Given the description of an element on the screen output the (x, y) to click on. 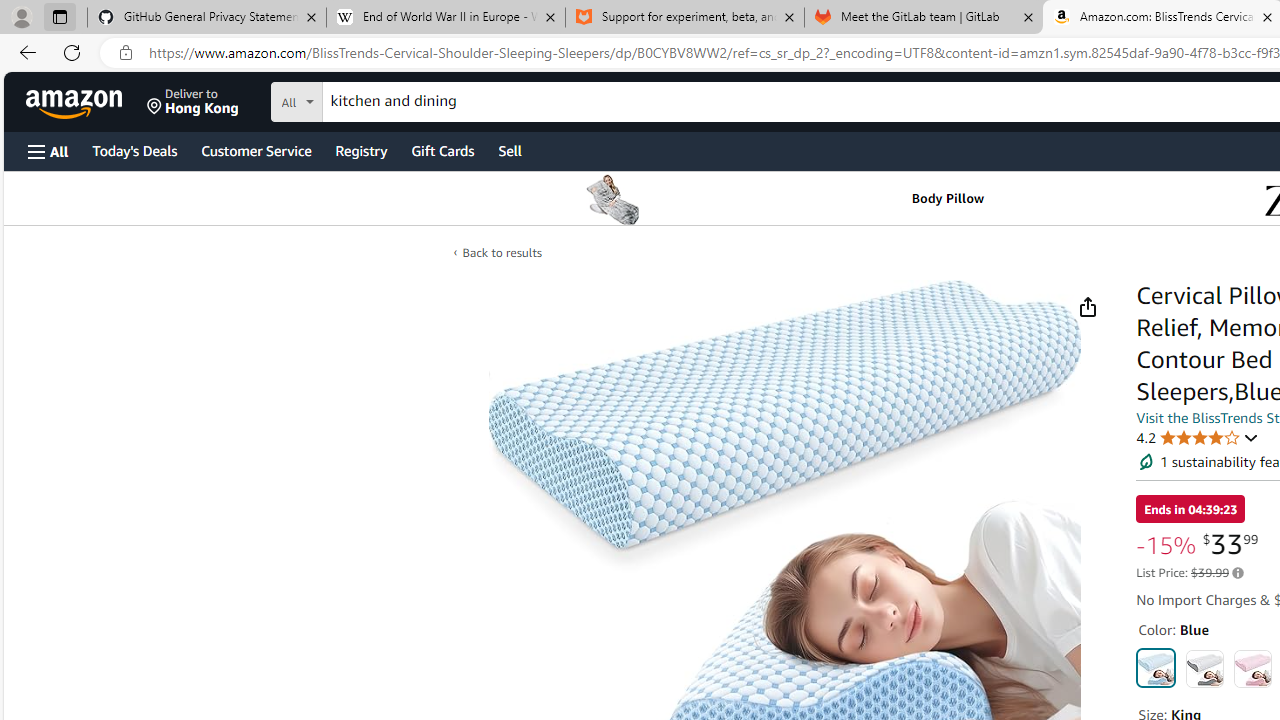
Sustainability features (1146, 462)
4.2 4.2 out of 5 stars (1197, 437)
Today's Deals (134, 150)
